Given the description of an element on the screen output the (x, y) to click on. 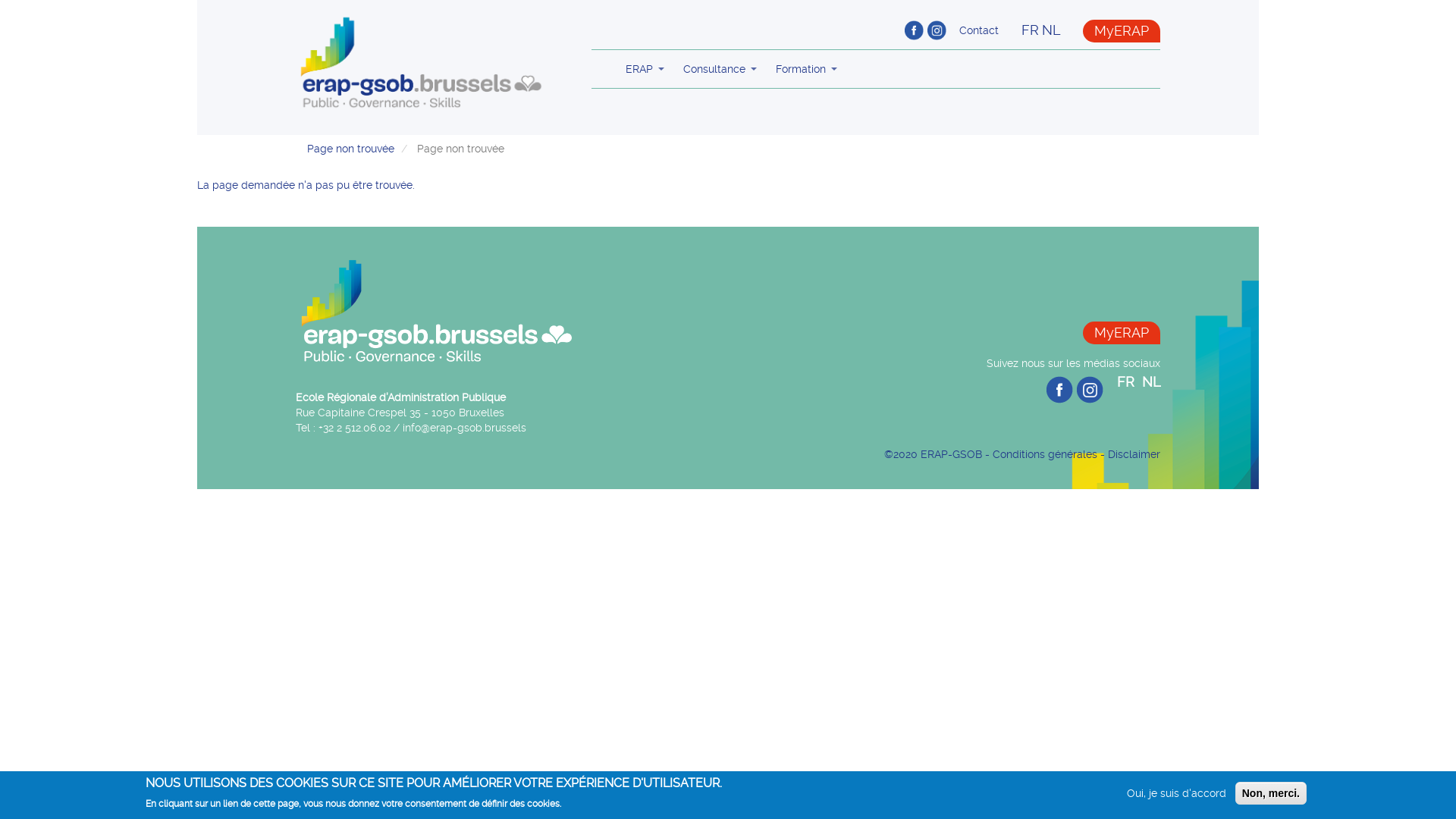
FR Element type: text (1125, 381)
Contact Element type: text (978, 30)
Facebook Element type: text (1059, 389)
Aller au contenu principal Element type: text (0, 134)
Oui, je suis d'accord Element type: text (1176, 792)
NL Element type: text (1050, 30)
+32 2 512.06.02 Element type: text (354, 427)
Facebook Element type: text (913, 30)
Instagram Element type: text (1089, 389)
MyERAP Element type: text (1121, 30)
Instagram Element type: text (936, 30)
Non, merci. Element type: text (1270, 792)
info@erap-gsob.brussels Element type: text (464, 427)
NL Element type: text (1149, 381)
Disclaimer Element type: text (1133, 454)
FR Element type: text (1029, 30)
MyERAP Element type: text (1121, 332)
